Given the description of an element on the screen output the (x, y) to click on. 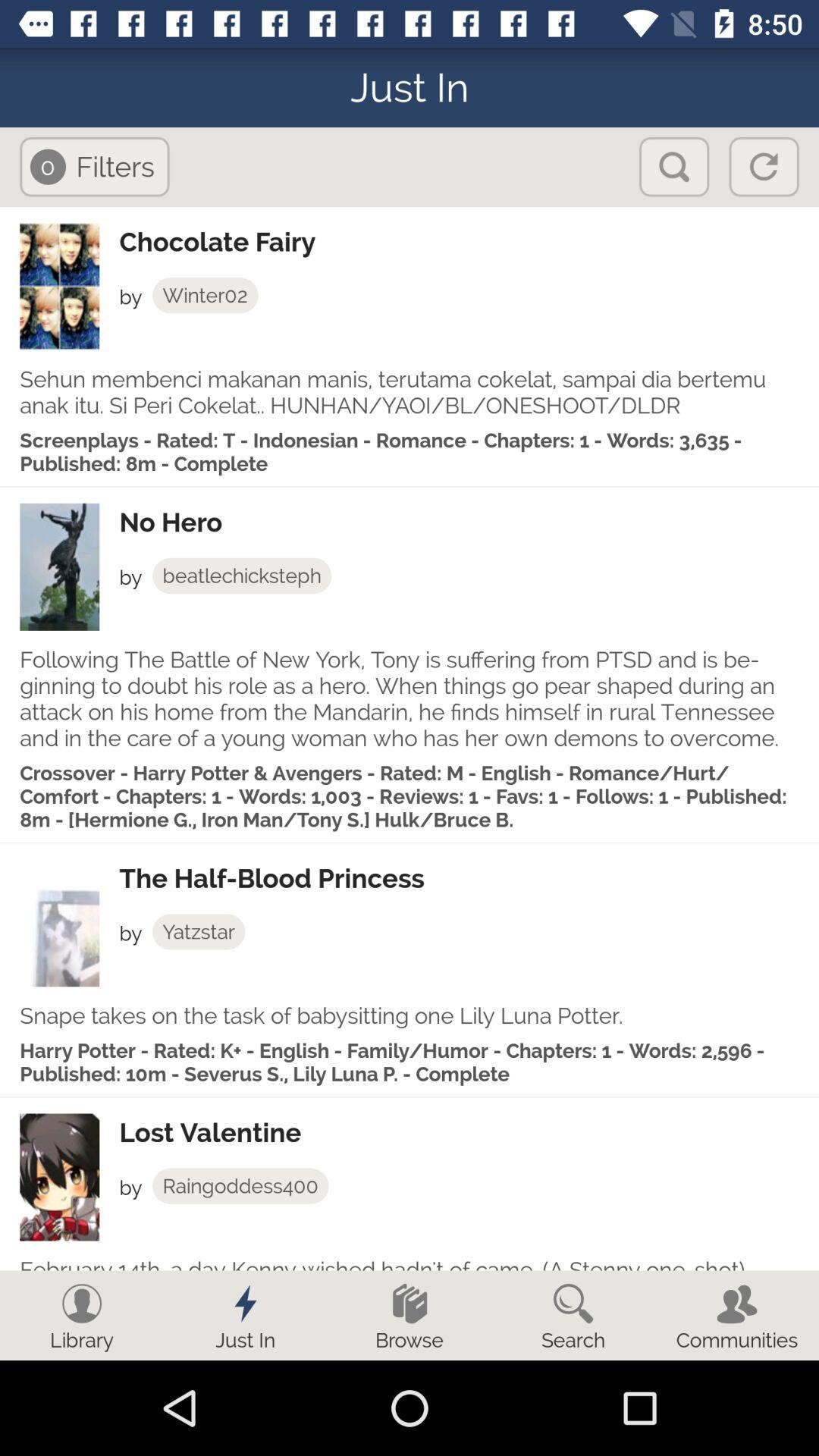
turn on the lost valentine (469, 1132)
